Given the description of an element on the screen output the (x, y) to click on. 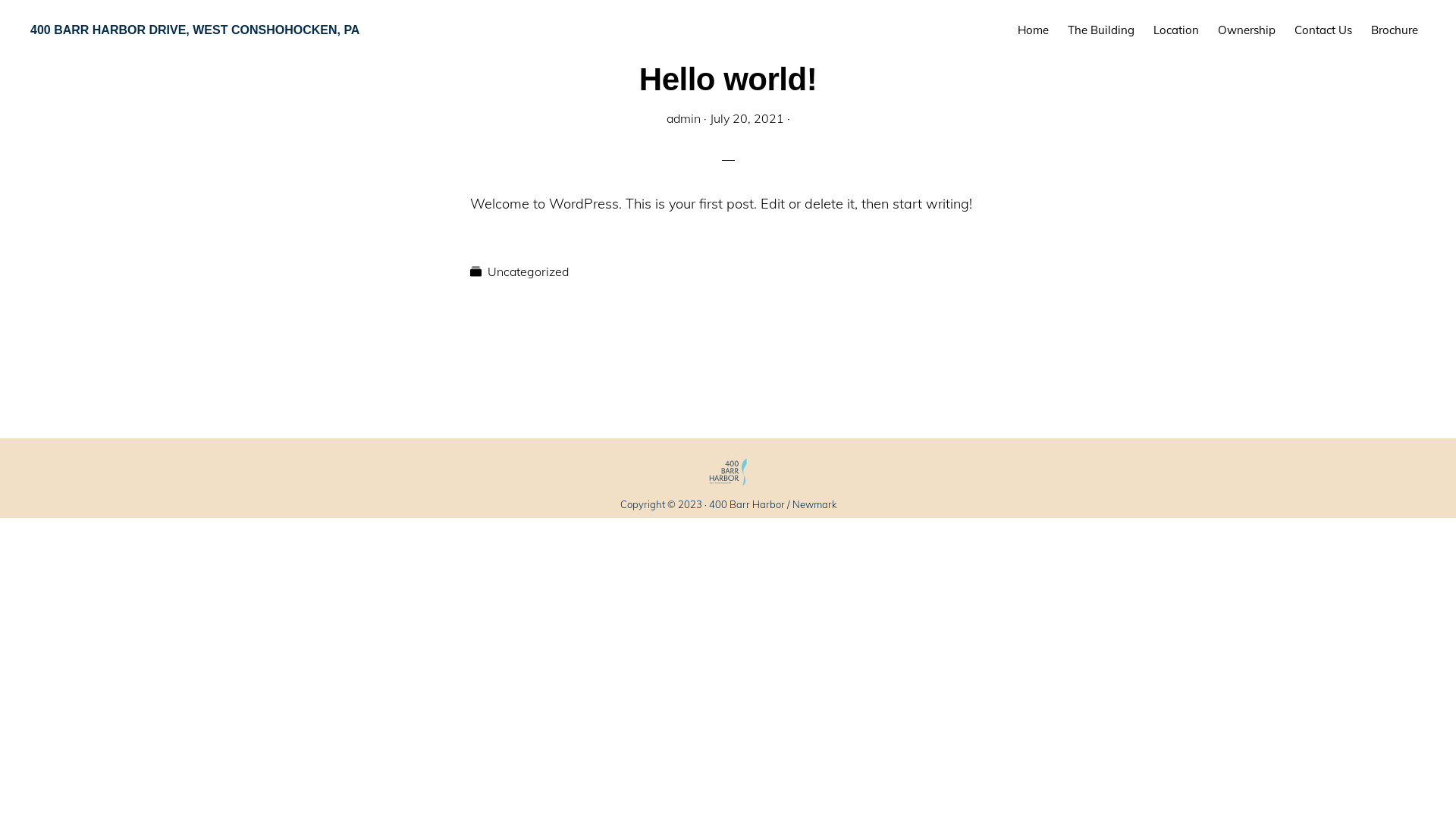
admin Element type: text (682, 117)
Uncategorized Element type: text (527, 271)
Home Element type: text (1033, 29)
Location Element type: text (1175, 29)
Contact Us Element type: text (1322, 29)
400 BARR HARBOR DRIVE, WEST CONSHOHOCKEN, PA Element type: text (194, 29)
Brochure Element type: text (1394, 29)
Ownership Element type: text (1246, 29)
The Building Element type: text (1101, 29)
Skip to primary navigation Element type: text (0, 0)
